Given the description of an element on the screen output the (x, y) to click on. 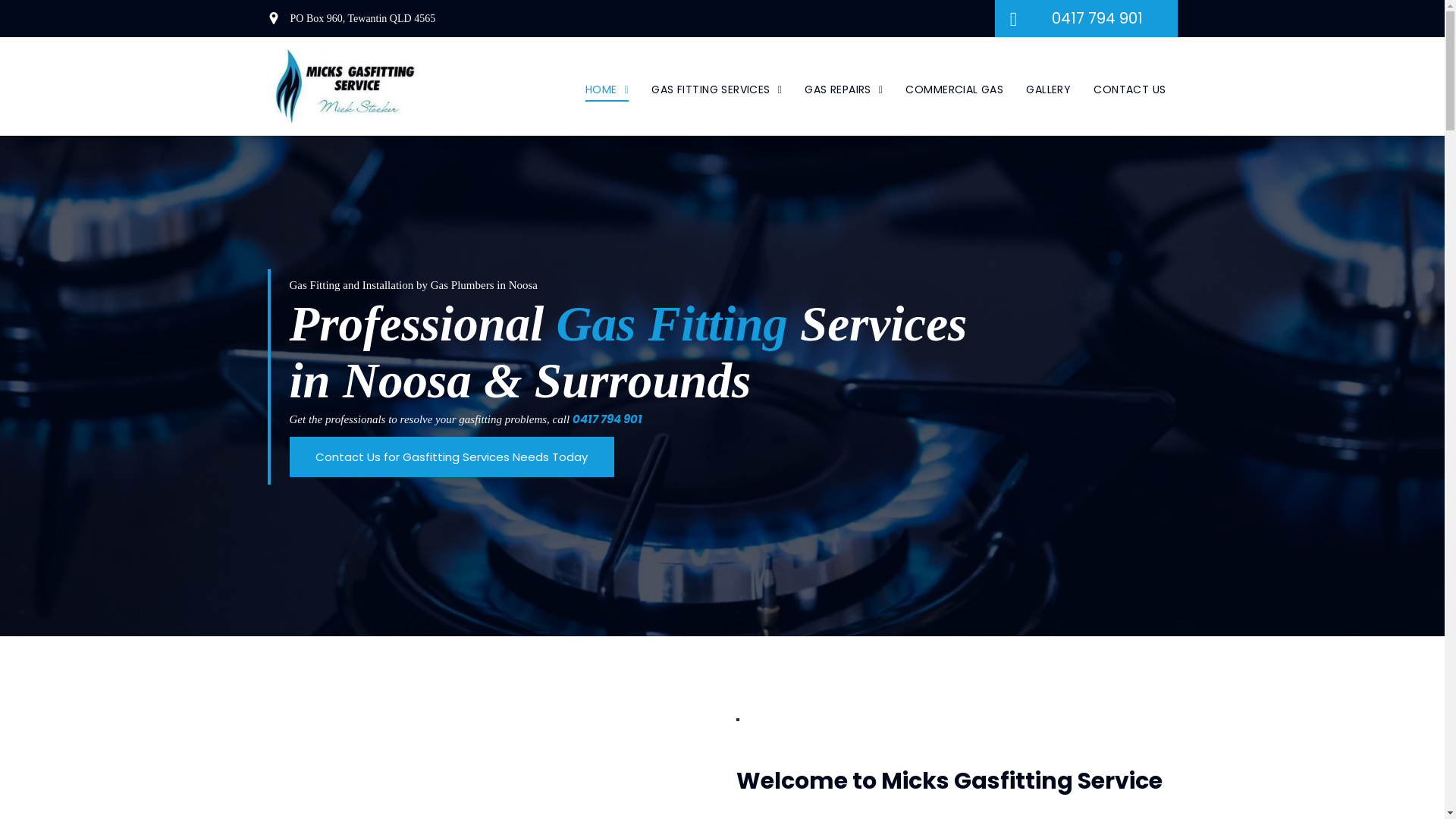
CONTACT US Element type: text (1129, 89)
0417 794 901 Element type: text (607, 418)
GAS REPAIRS Element type: text (843, 89)
HOME Element type: text (607, 89)
GAS FITTING SERVICES Element type: text (716, 89)
Contact Us for Gasfitting Services Needs Today Element type: text (451, 456)
COMMERCIAL GAS Element type: text (954, 89)
Micks Gasfitting Service Pty Ltd Element type: hover (342, 86)
GALLERY Element type: text (1048, 89)
PO Box 960, Tewantin QLD 4565 Element type: text (362, 17)
